Given the description of an element on the screen output the (x, y) to click on. 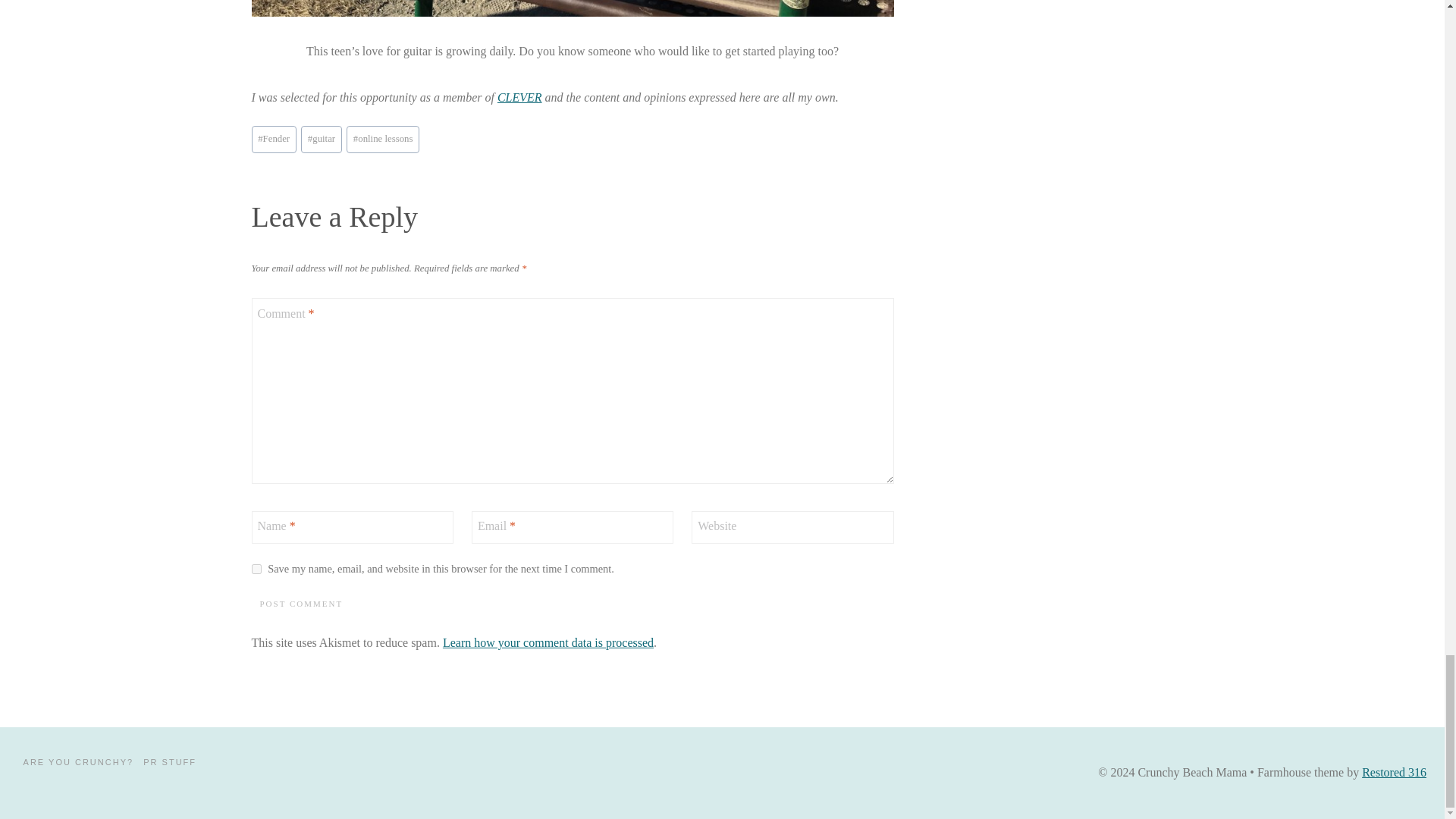
ARE YOU CRUNCHY? (77, 762)
Learn how your comment data is processed (547, 642)
Post Comment (301, 604)
yes (256, 569)
Post Comment (301, 604)
CLEVER (519, 97)
guitar (321, 139)
online lessons (382, 139)
Fender (274, 139)
